Given the description of an element on the screen output the (x, y) to click on. 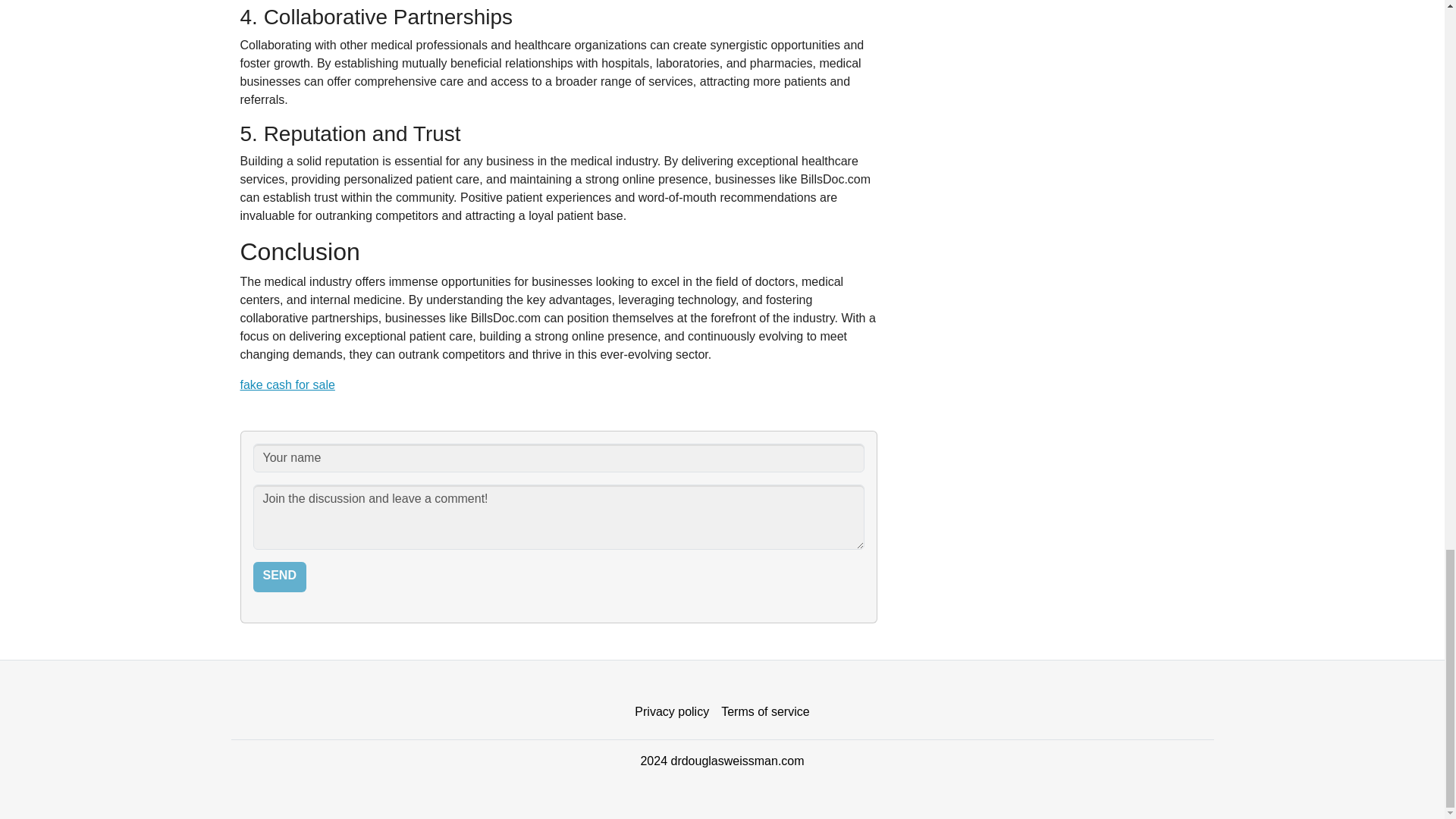
Terms of service (764, 711)
Send (279, 576)
fake cash for sale (287, 384)
Send (279, 576)
Privacy policy (671, 711)
